Given the description of an element on the screen output the (x, y) to click on. 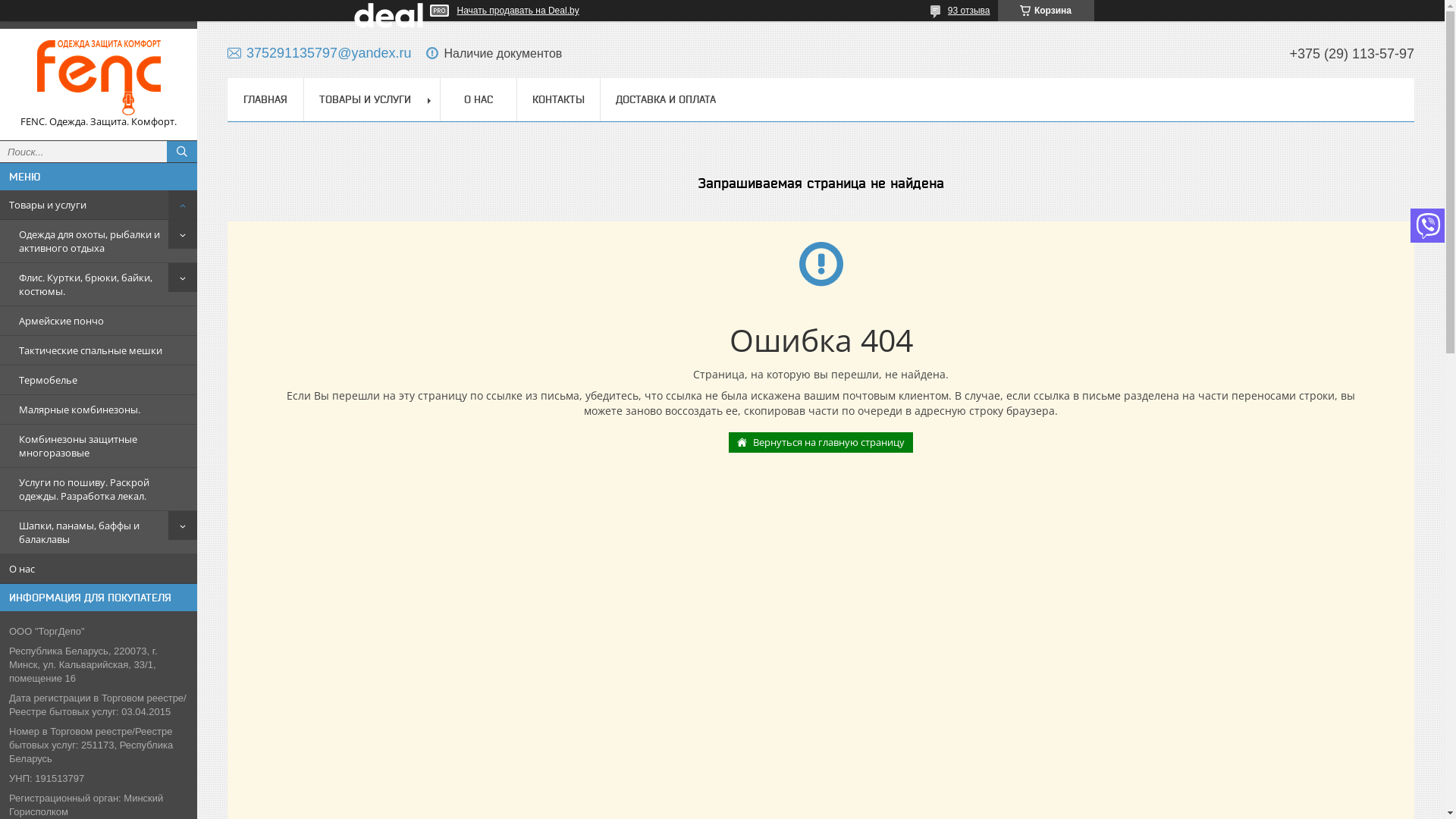
375291135797@yandex.ru Element type: text (319, 52)
